Given the description of an element on the screen output the (x, y) to click on. 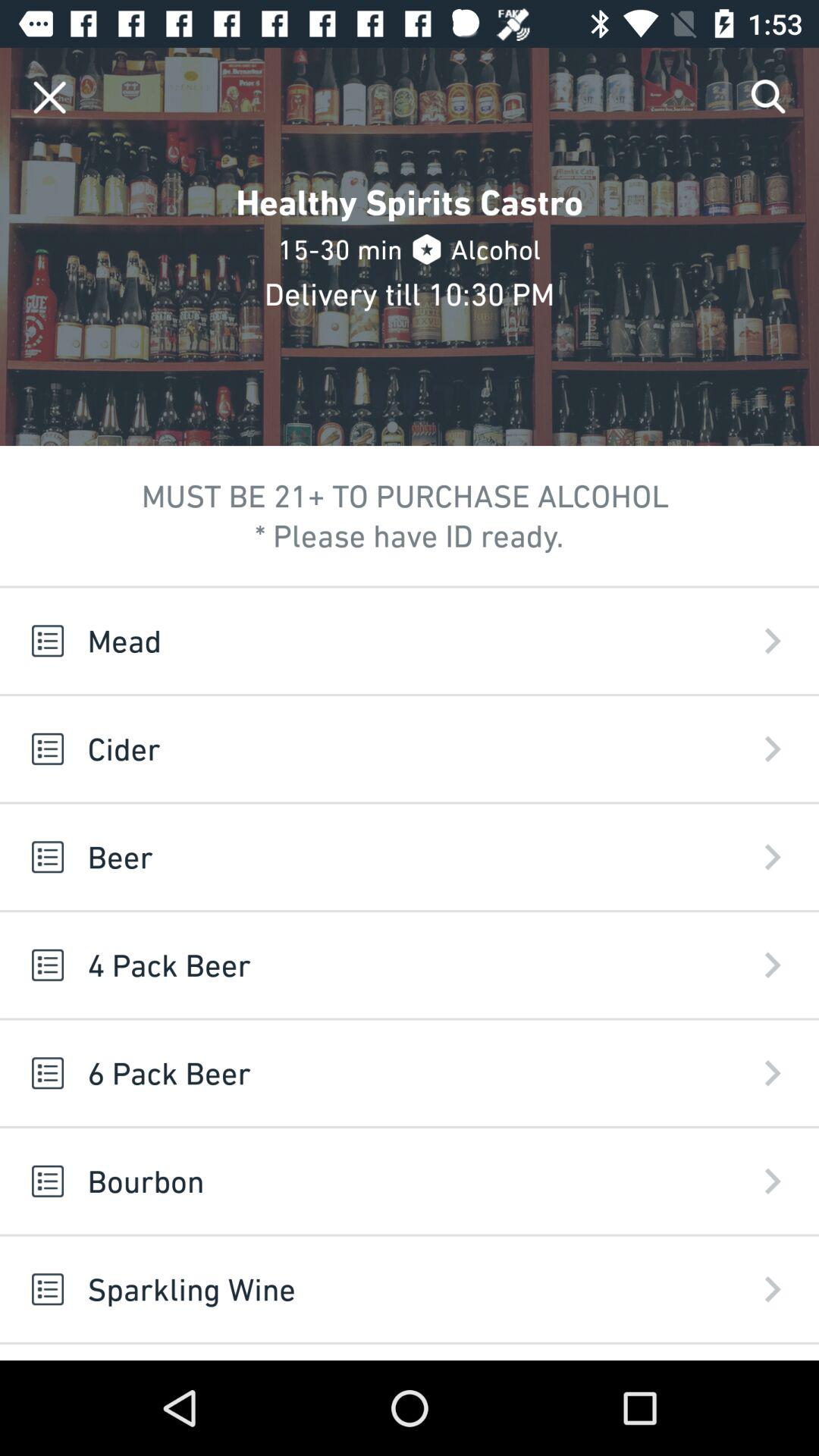
close page (49, 97)
